Given the description of an element on the screen output the (x, y) to click on. 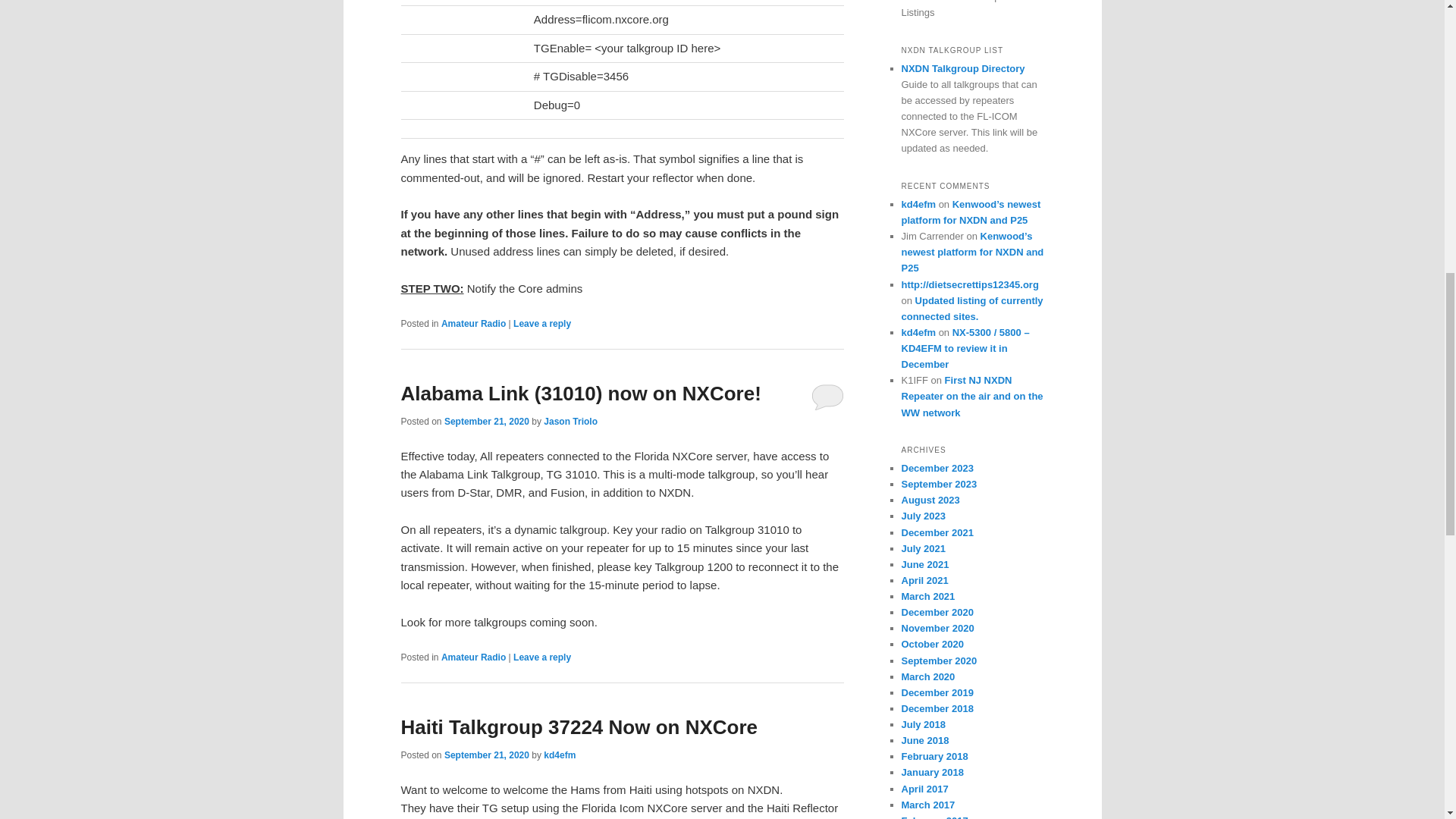
kd4efm (559, 755)
Leave a reply (541, 323)
NXDN Talkgroup Directory (963, 68)
Haiti Talkgroup 37224 Now on NXCore (578, 726)
View all posts by Jason Triolo (569, 421)
kd4efm (918, 204)
1:35 am (486, 421)
View all posts by kd4efm (559, 755)
Updated listing of currently connected sites. (971, 308)
September 21, 2020 (486, 755)
